Given the description of an element on the screen output the (x, y) to click on. 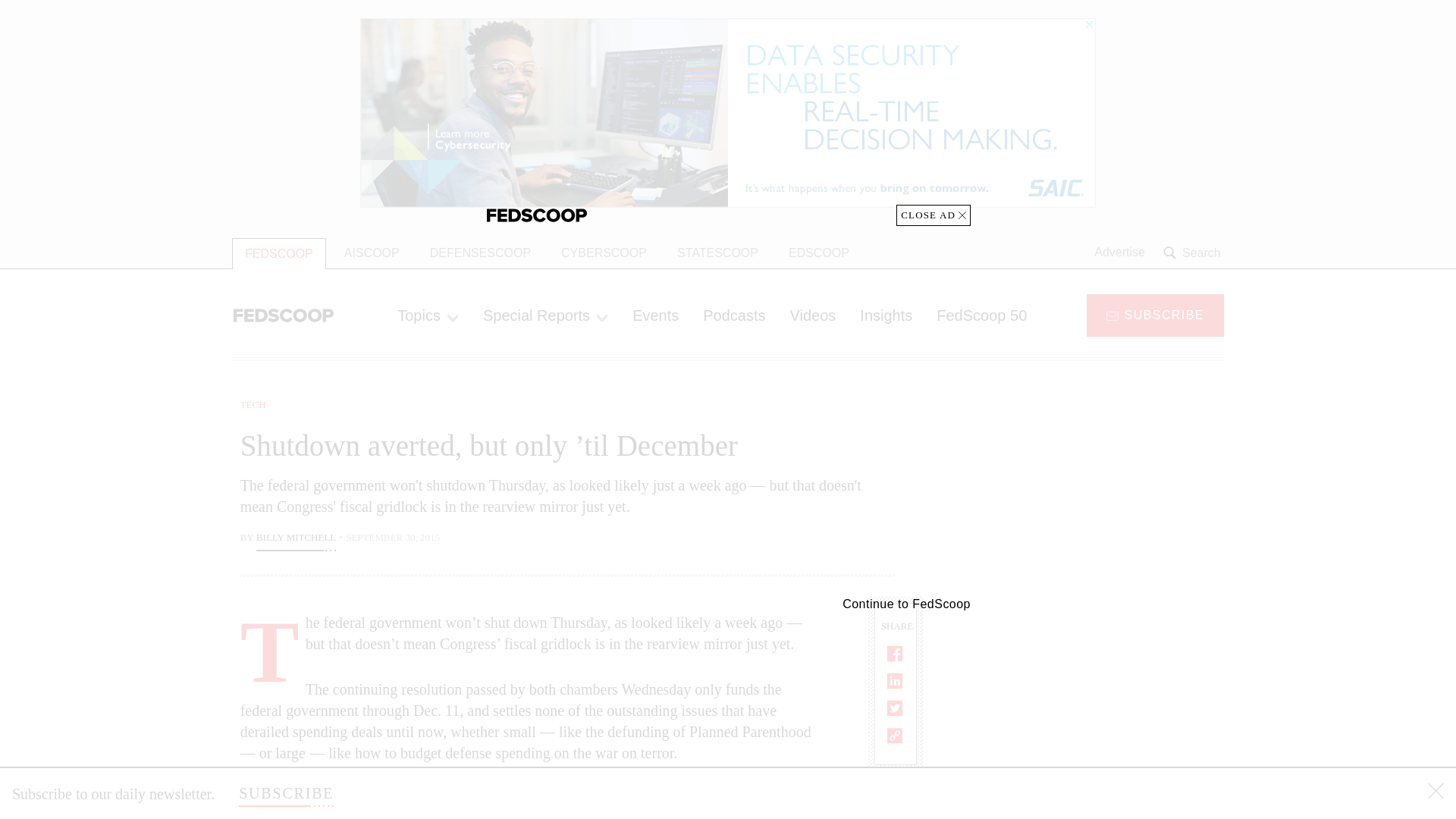
Videos (812, 315)
STATESCOOP (717, 253)
FedScoop 50 (981, 315)
3rd party ad content (1101, 705)
Billy Mitchell (296, 539)
DEFENSESCOOP (480, 253)
Events (655, 315)
Podcasts (733, 315)
FEDSCOOP (278, 253)
Topics (427, 315)
3rd party ad content (1101, 492)
AISCOOP (371, 253)
